Given the description of an element on the screen output the (x, y) to click on. 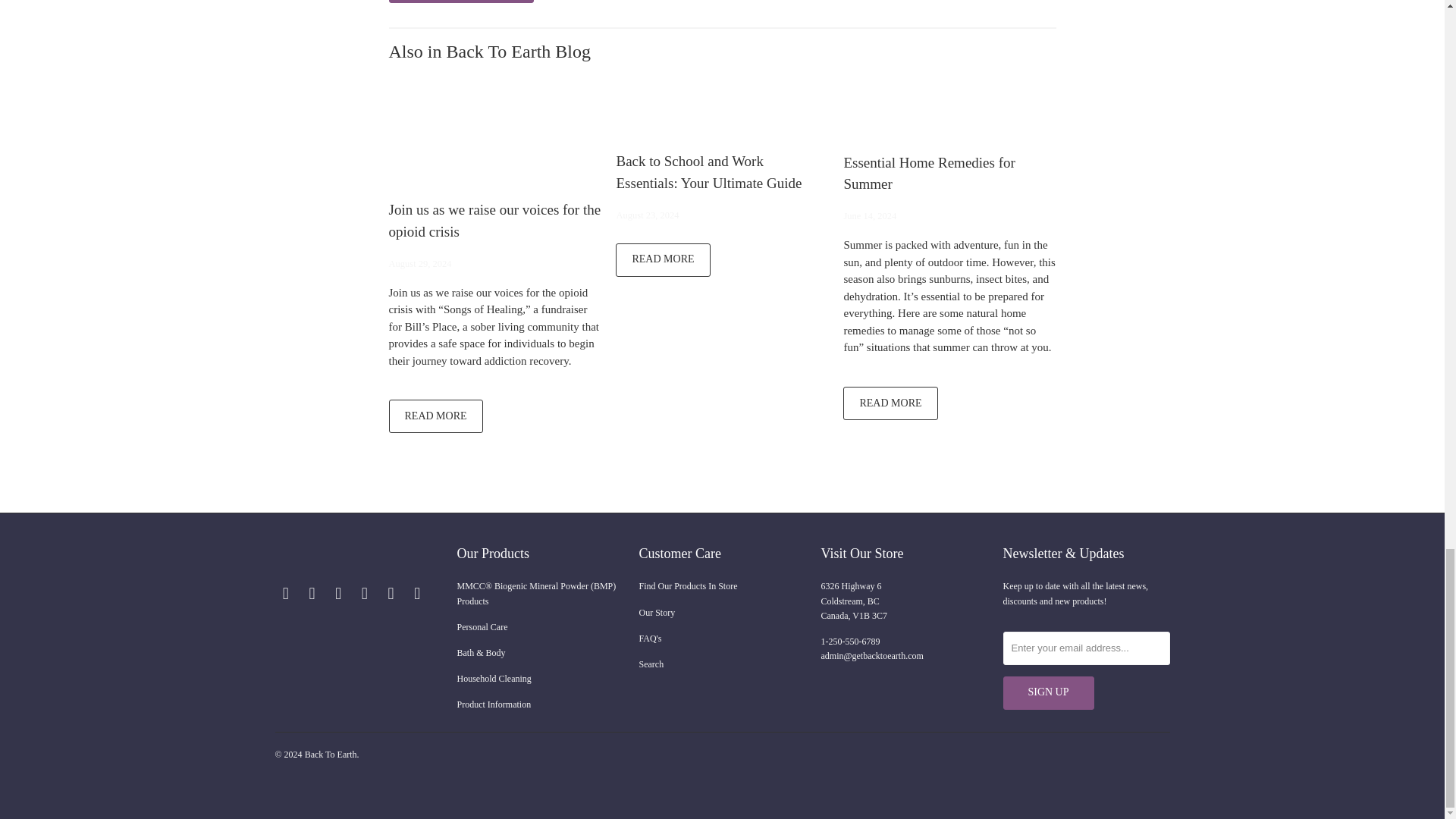
Join us as we raise our voices for the opioid crisis (493, 220)
Sign Up (1048, 693)
Back to School and Work Essentials: Your Ultimate Guide (721, 111)
Essential Home Remedies for Summer (949, 112)
Essential Home Remedies for Summer (928, 173)
Post comment (460, 1)
Join us as we raise our voices for the opioid crisis (493, 135)
Back to School and Work Essentials: Your Ultimate Guide (662, 259)
Join us as we raise our voices for the opioid crisis (434, 416)
Back to School and Work Essentials: Your Ultimate Guide (708, 171)
